Given the description of an element on the screen output the (x, y) to click on. 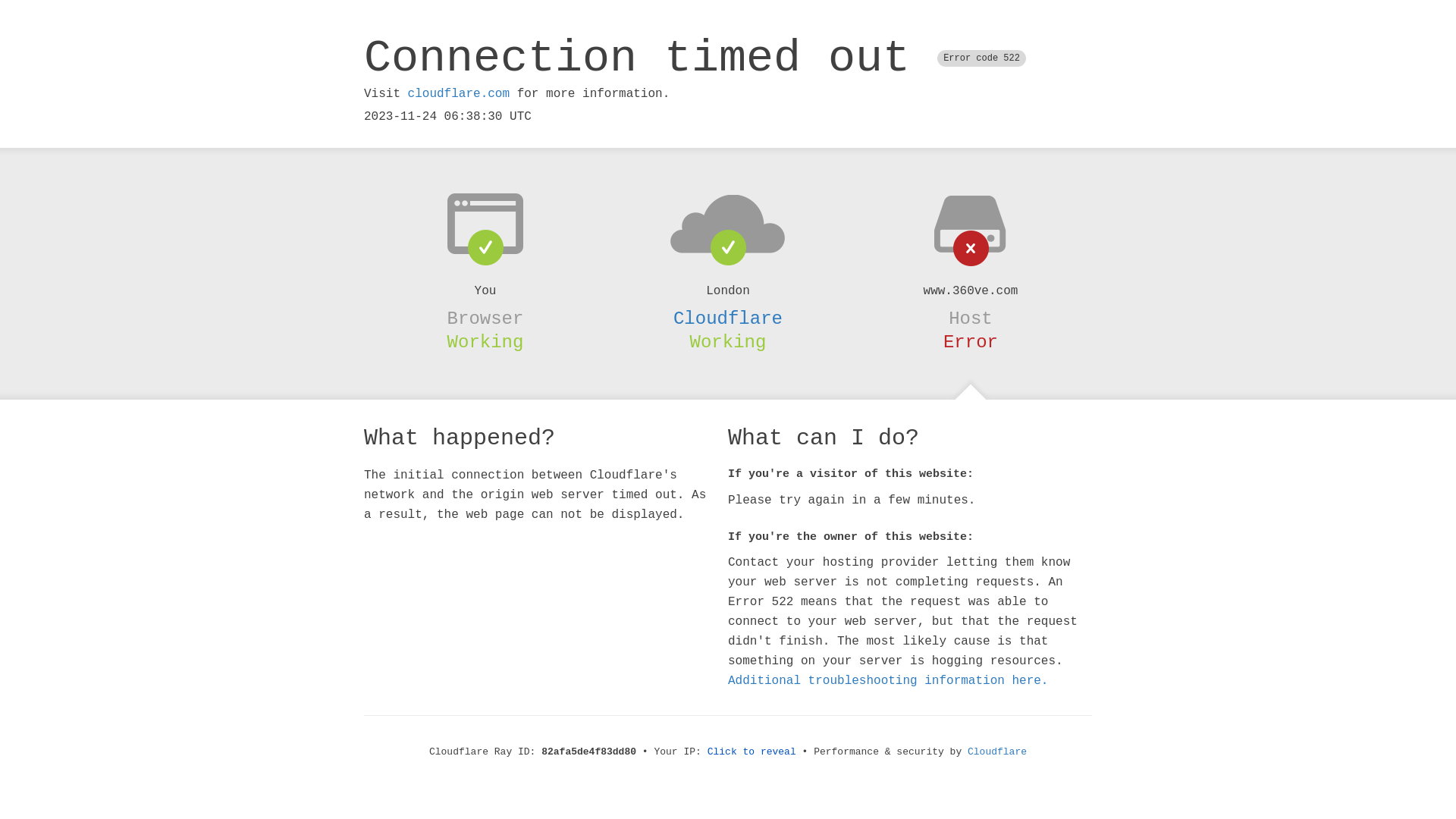
Additional troubleshooting information here. Element type: text (888, 680)
Cloudflare Element type: text (996, 751)
Cloudflare Element type: text (727, 318)
Click to reveal Element type: text (751, 751)
cloudflare.com Element type: text (458, 93)
